Given the description of an element on the screen output the (x, y) to click on. 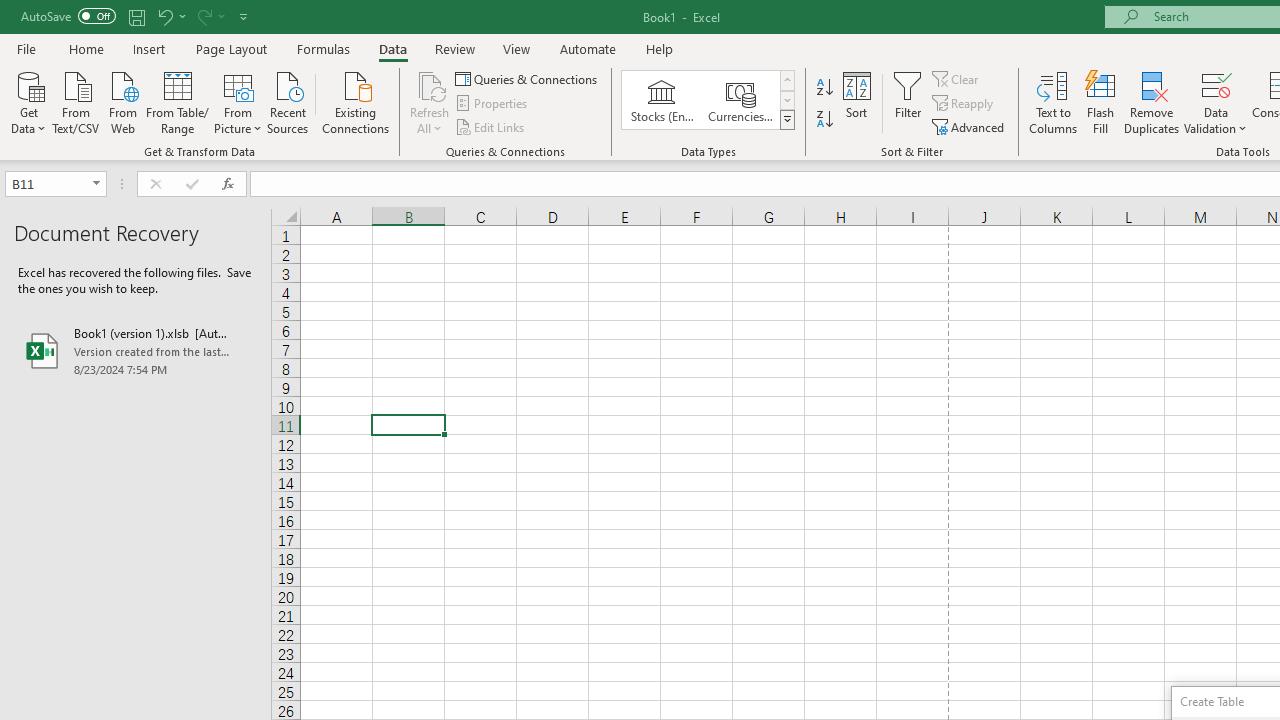
Help (660, 48)
Flash Fill (1101, 102)
Insert (149, 48)
Customize Quick Access Toolbar (244, 15)
Data (392, 48)
From Web (122, 101)
Stocks (English) (662, 100)
